Given the description of an element on the screen output the (x, y) to click on. 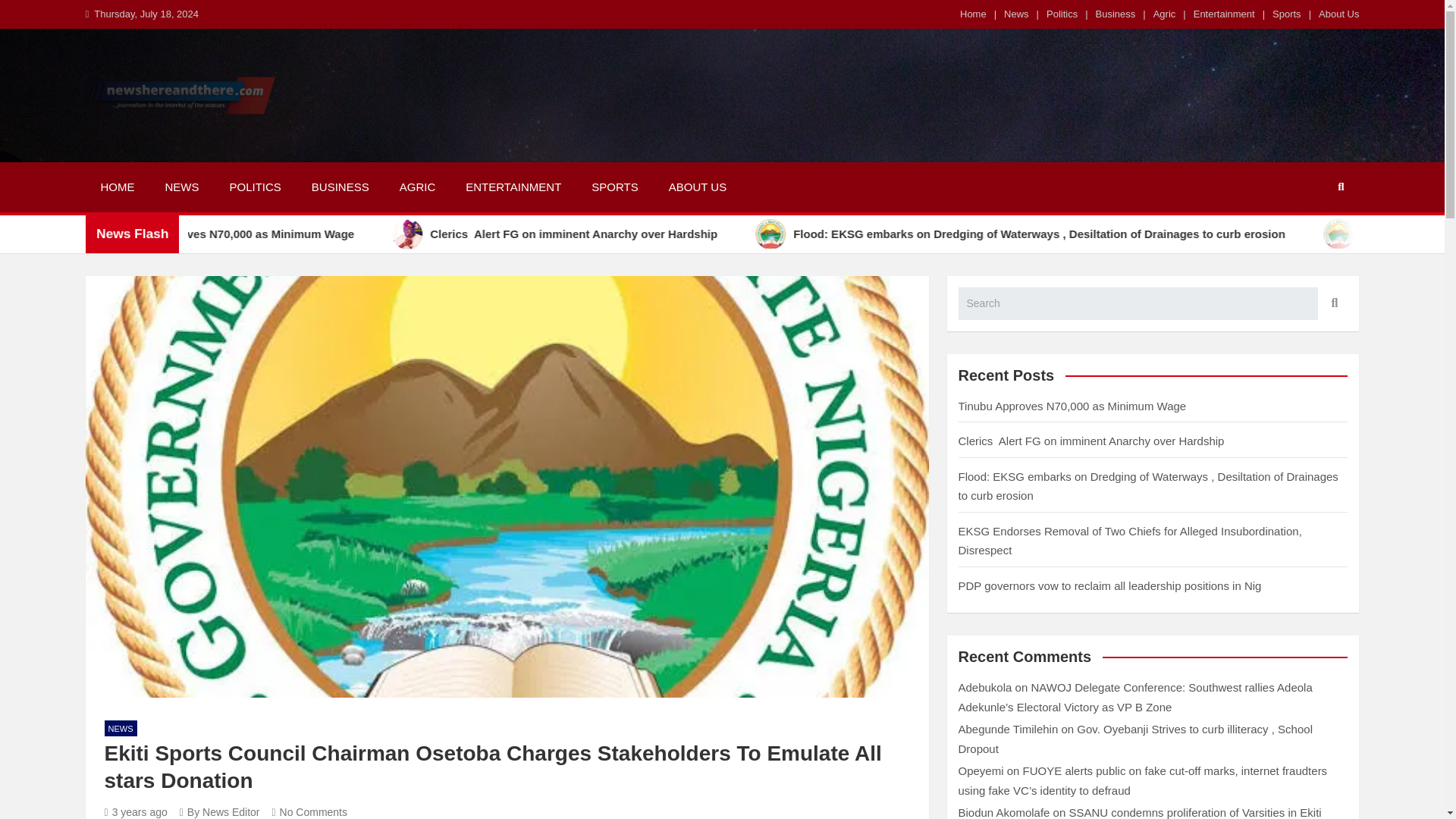
ABOUT US (697, 187)
POLITICS (254, 187)
3 years ago (135, 811)
Home (973, 13)
By News Editor (219, 811)
Agric (1164, 13)
HOME (116, 187)
Tinubu Approves N70,000 as Minimum Wage (315, 234)
About Us (1338, 13)
BUSINESS (340, 187)
Sports (1286, 13)
SPORTS (614, 187)
Politics (1061, 13)
Clerics  Alert FG on imminent Anarchy over Hardship (655, 234)
Entertainment (1224, 13)
